Given the description of an element on the screen output the (x, y) to click on. 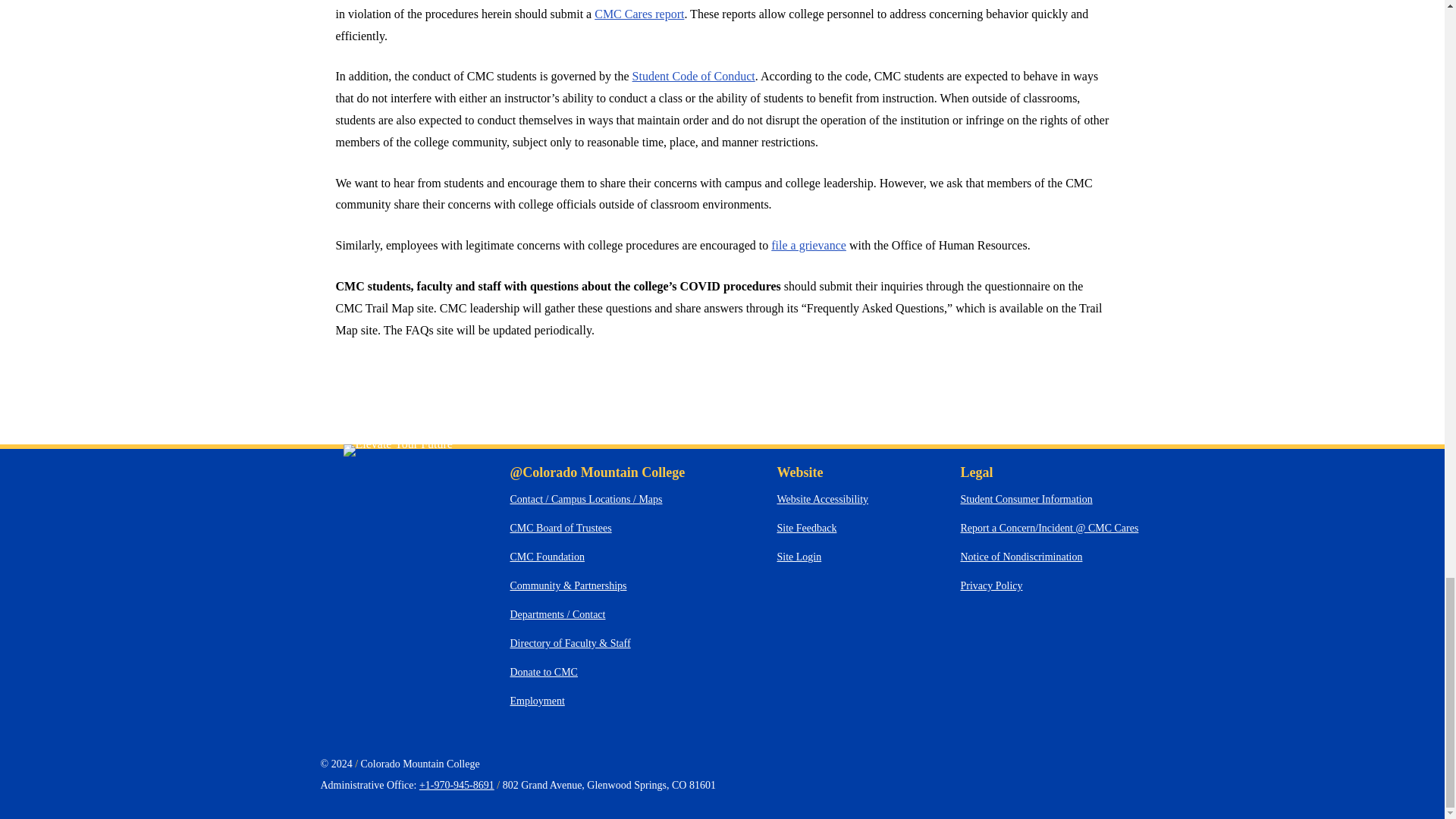
elevate-banner-yellow (396, 443)
